Given the description of an element on the screen output the (x, y) to click on. 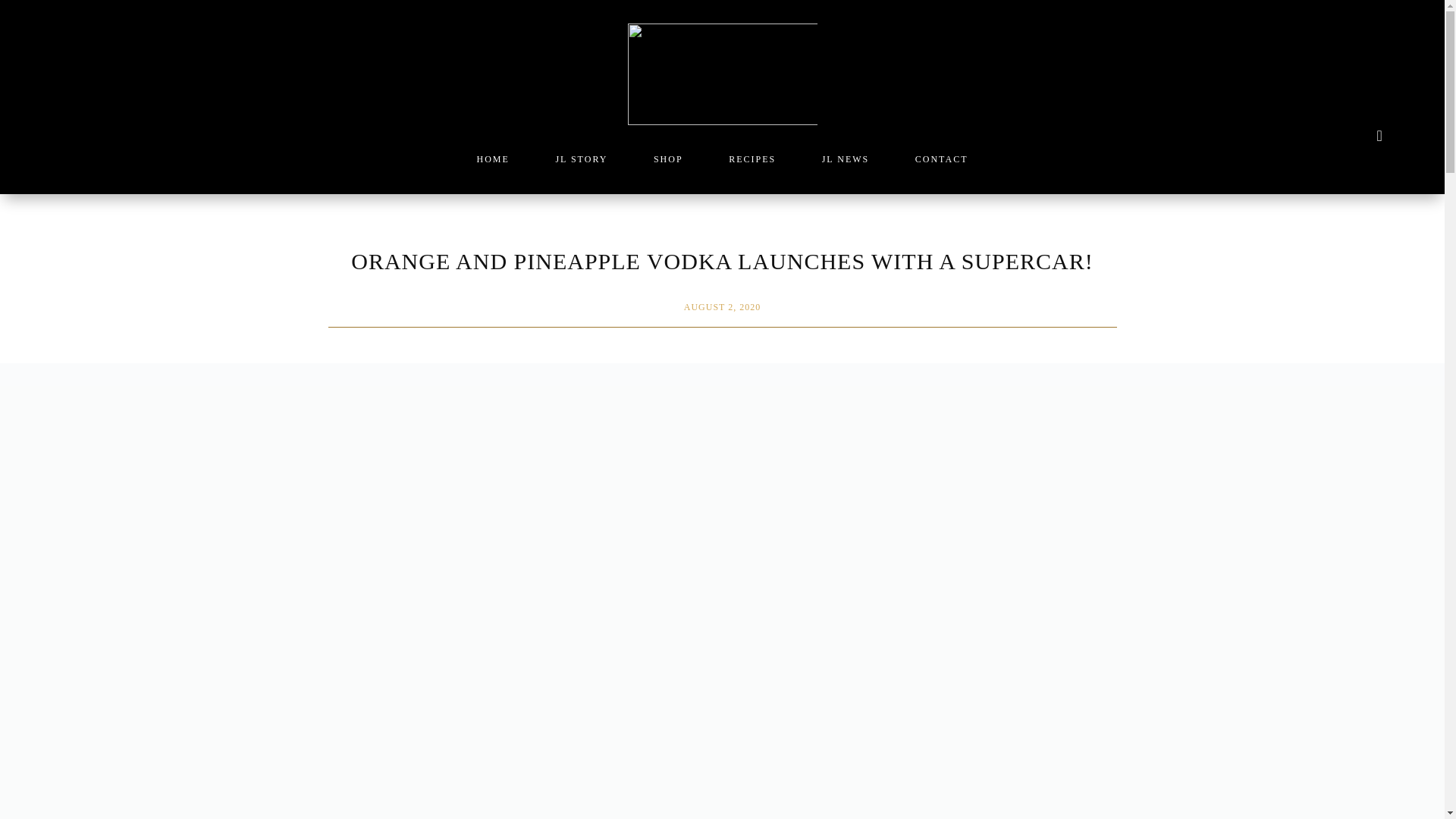
CONTACT (941, 161)
SHOP (667, 161)
JL STORY (580, 161)
HOME (492, 161)
JL NEWS (845, 161)
RECIPES (752, 161)
